Given the description of an element on the screen output the (x, y) to click on. 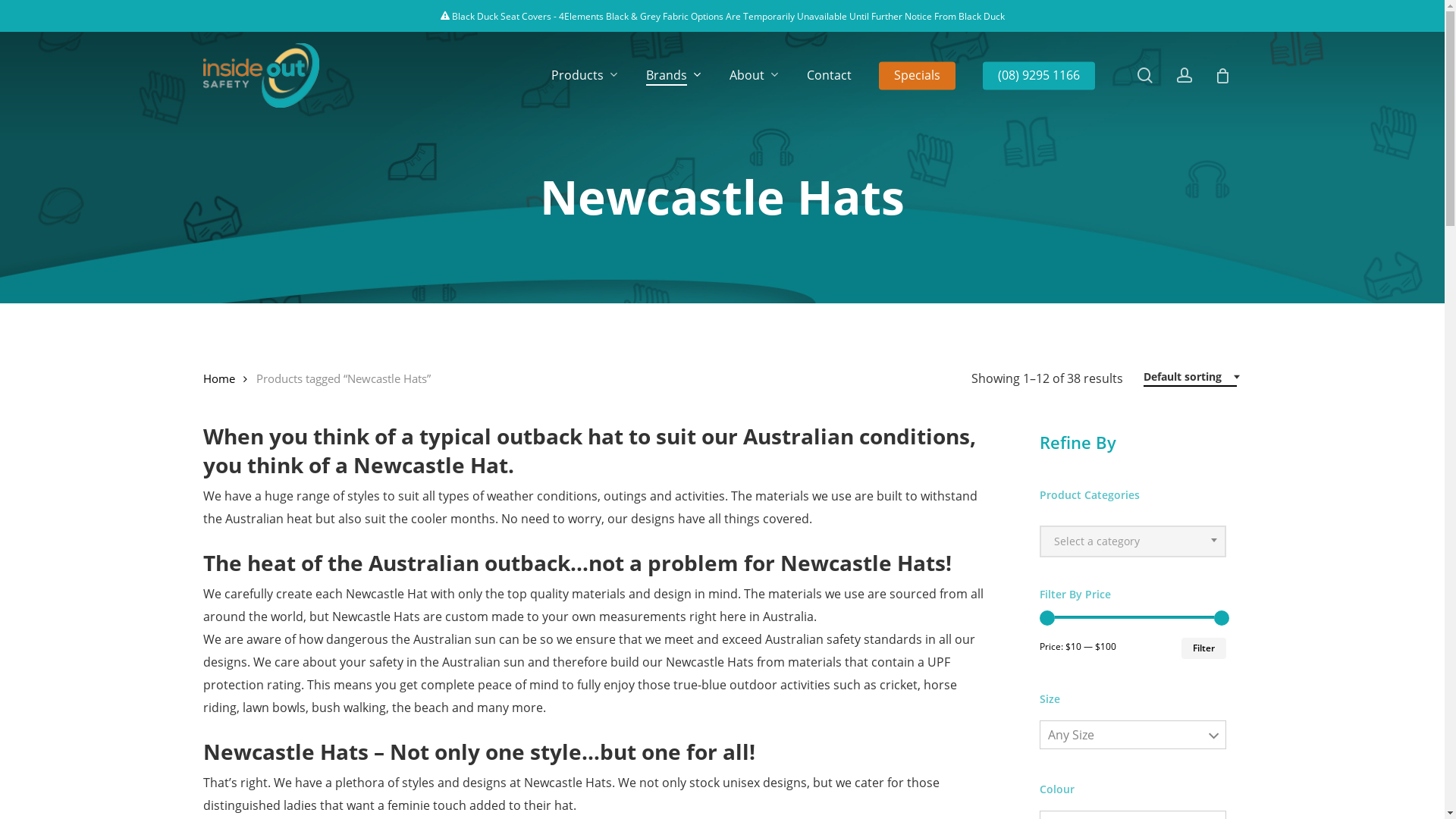
Specials Element type: text (916, 75)
Products Element type: text (584, 75)
Any Size Element type: text (1132, 734)
search Element type: text (1144, 75)
About Element type: text (754, 75)
(08) 9295 1166 Element type: text (1038, 75)
Home Element type: text (219, 378)
Filter Element type: text (1203, 647)
Contact Element type: text (828, 75)
Brands Element type: text (674, 75)
account Element type: text (1184, 75)
